Given the description of an element on the screen output the (x, y) to click on. 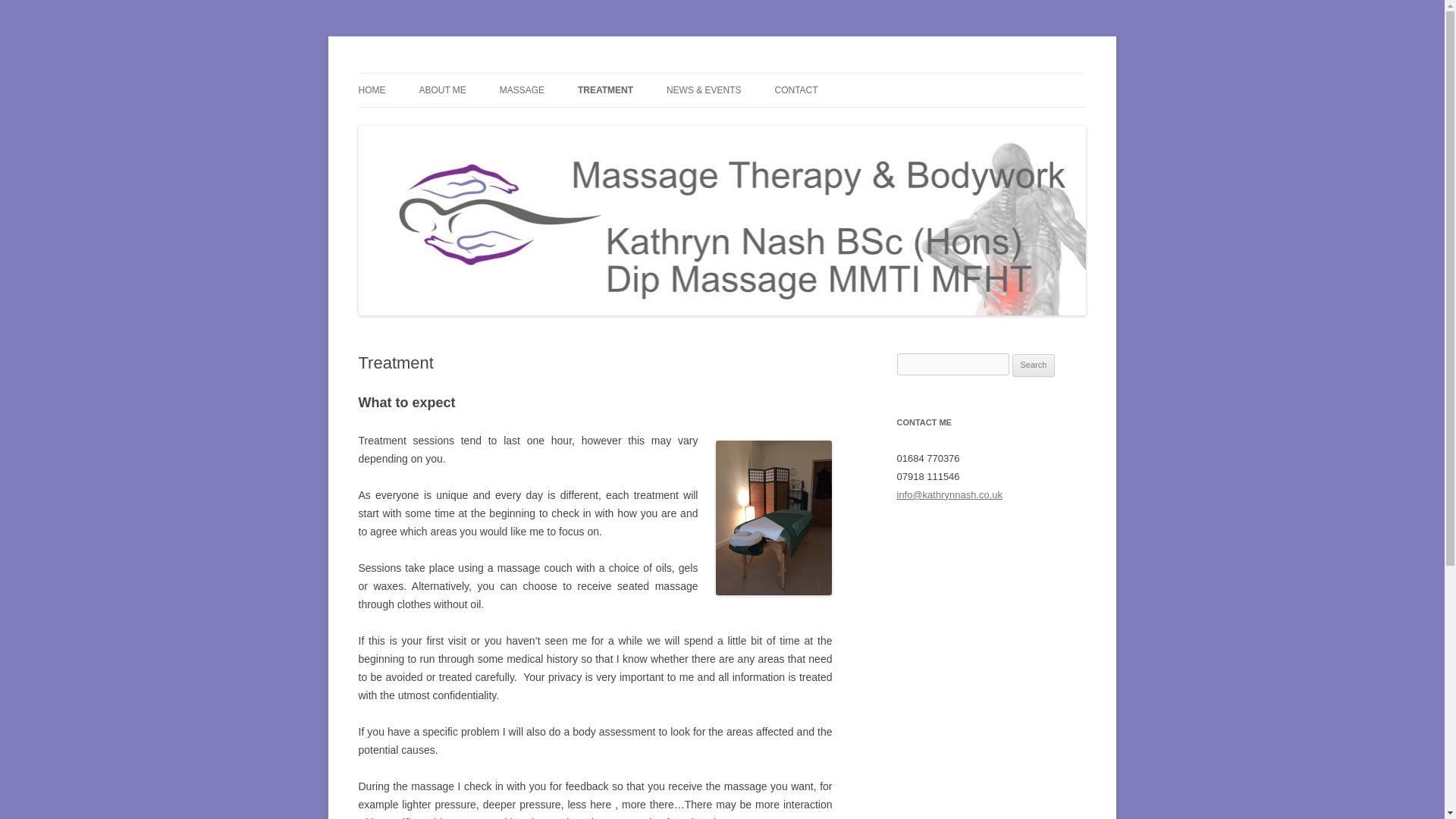
WHAT TO EXPECT (653, 122)
Search (1033, 364)
CONTACT (796, 90)
REMEDIAL MASSAGE (574, 122)
TREATMENT (605, 90)
Search (1033, 364)
ABOUT ME (442, 90)
MASSAGE (521, 90)
